Given the description of an element on the screen output the (x, y) to click on. 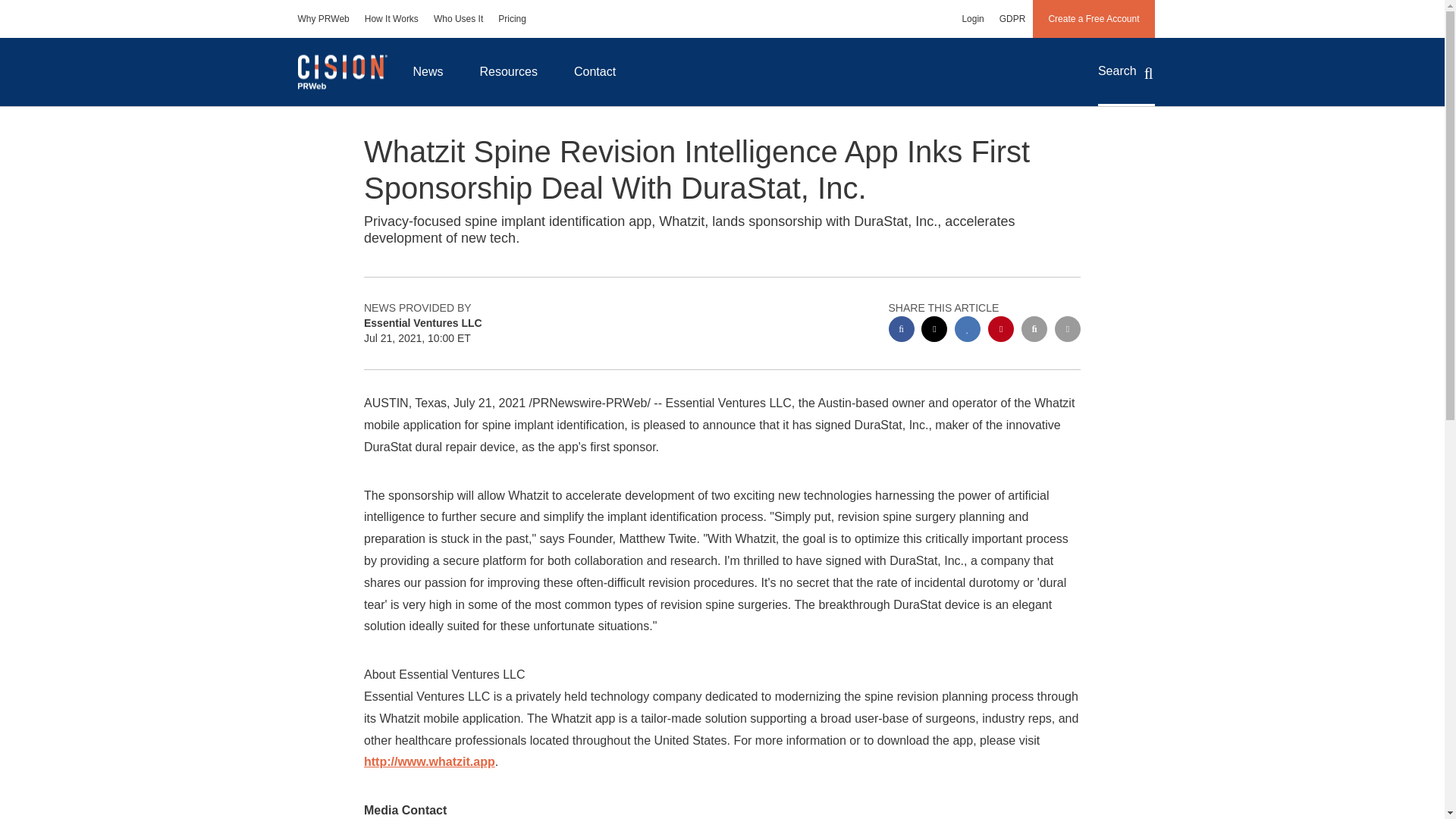
GDPR (1012, 18)
How It Works (391, 18)
Pricing (512, 18)
Who Uses It (458, 18)
News (427, 71)
Create a Free Account (1093, 18)
Login (972, 18)
Contact (594, 71)
Resources (508, 71)
